Given the description of an element on the screen output the (x, y) to click on. 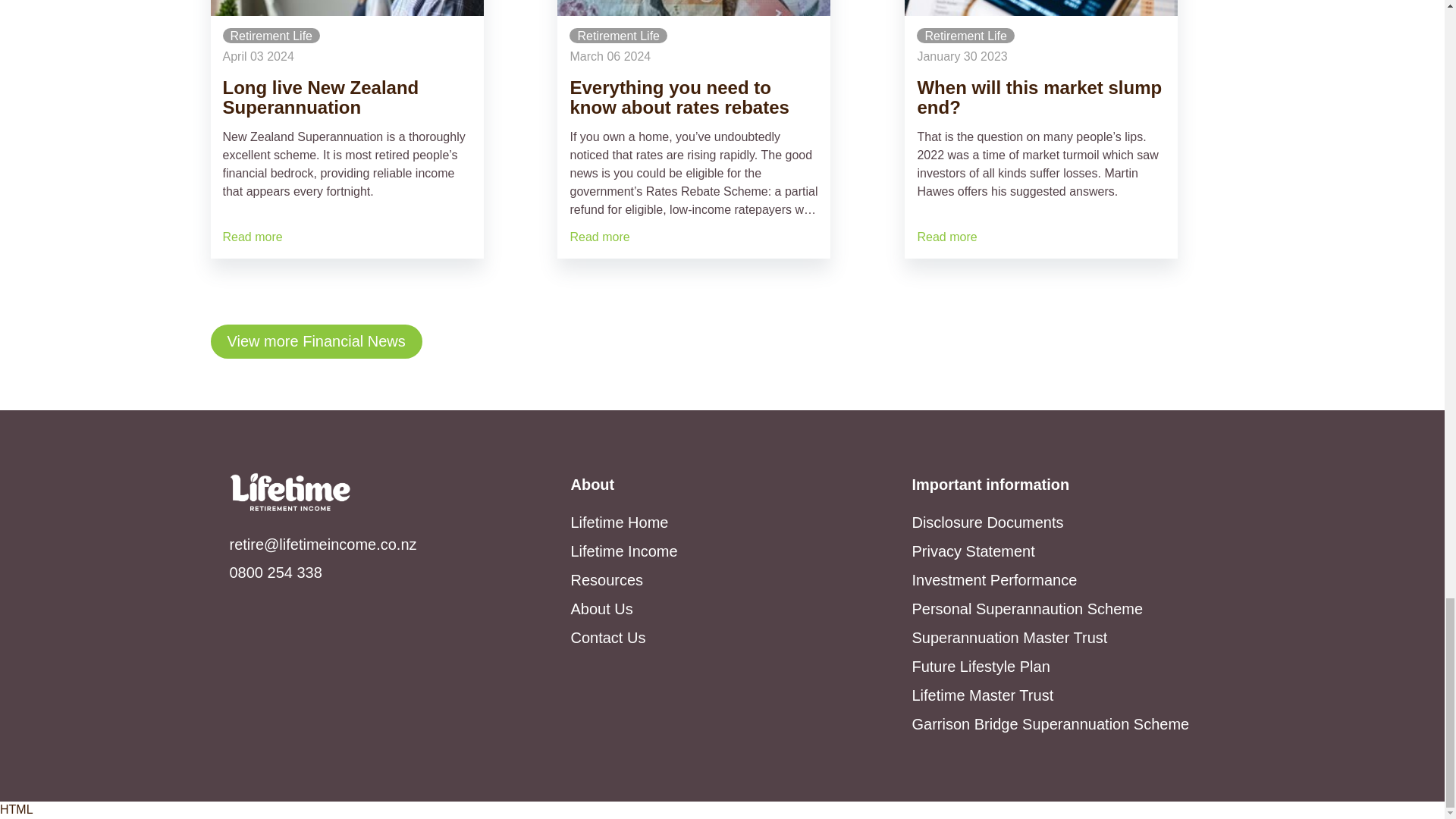
Lifetime Home (619, 522)
Lifetime Income (623, 550)
Contact Us (607, 637)
Resources (606, 579)
About Us (600, 608)
